Given the description of an element on the screen output the (x, y) to click on. 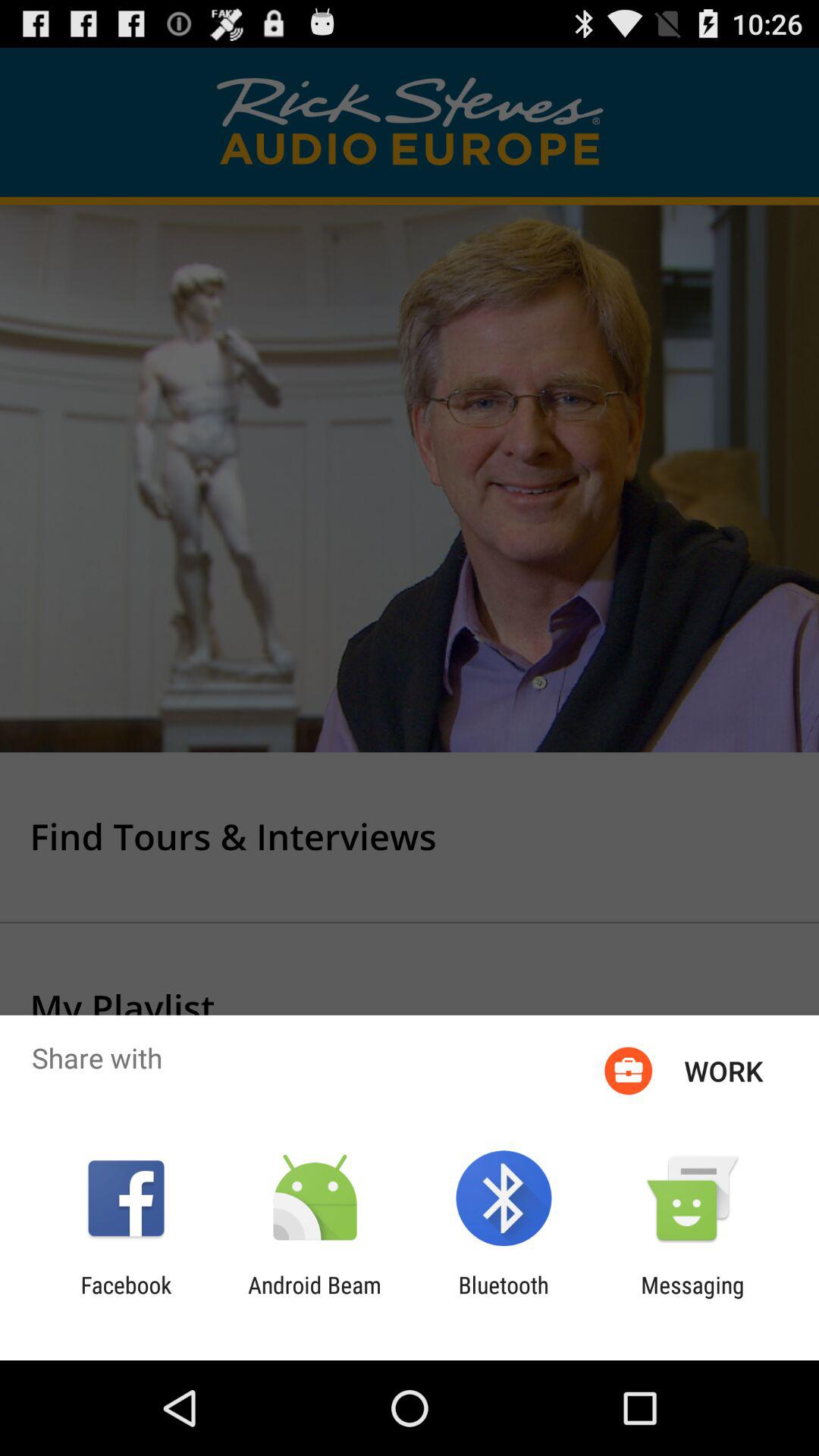
swipe to facebook icon (125, 1298)
